Given the description of an element on the screen output the (x, y) to click on. 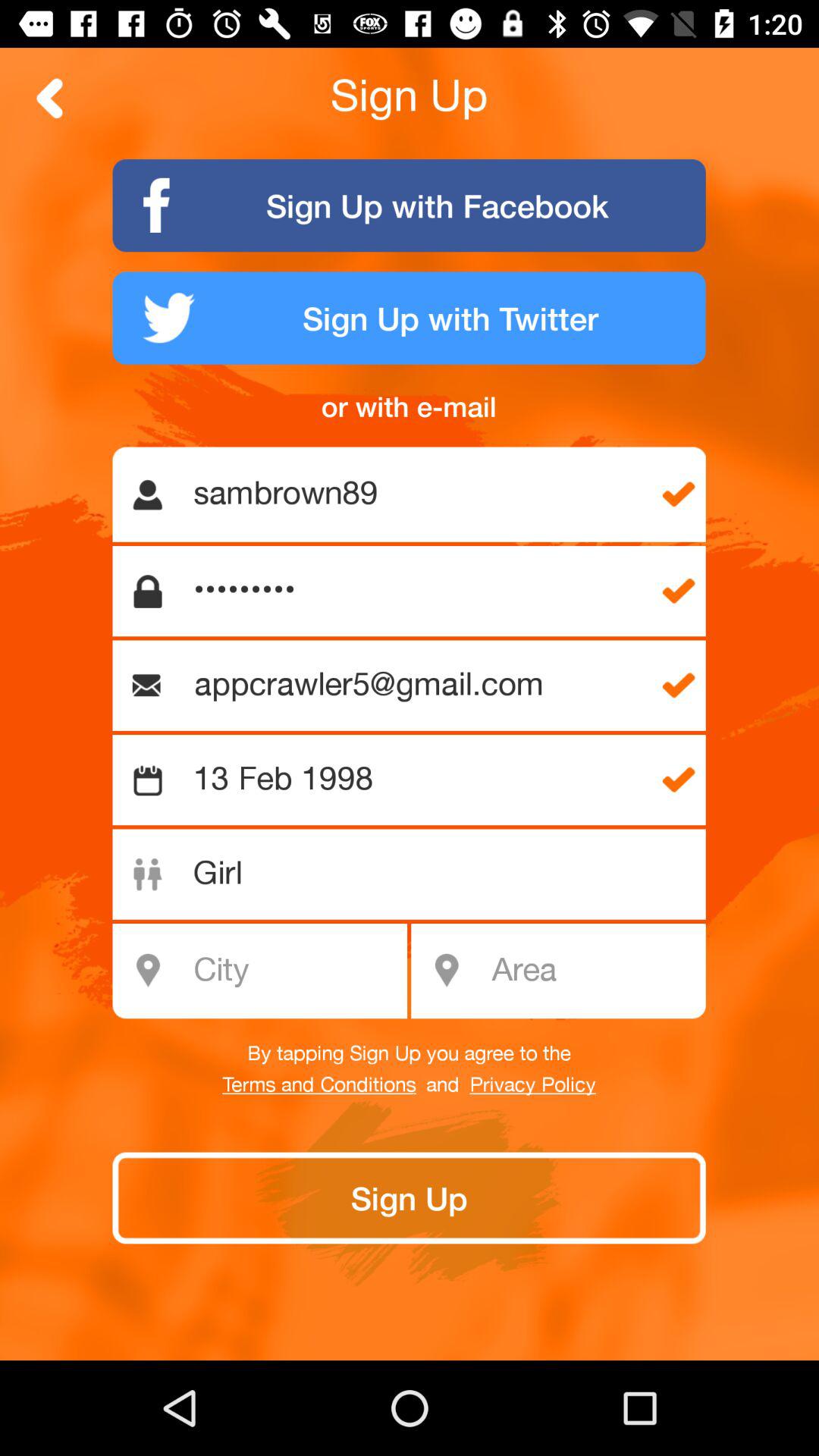
turn off terms and conditions icon (319, 1085)
